Given the description of an element on the screen output the (x, y) to click on. 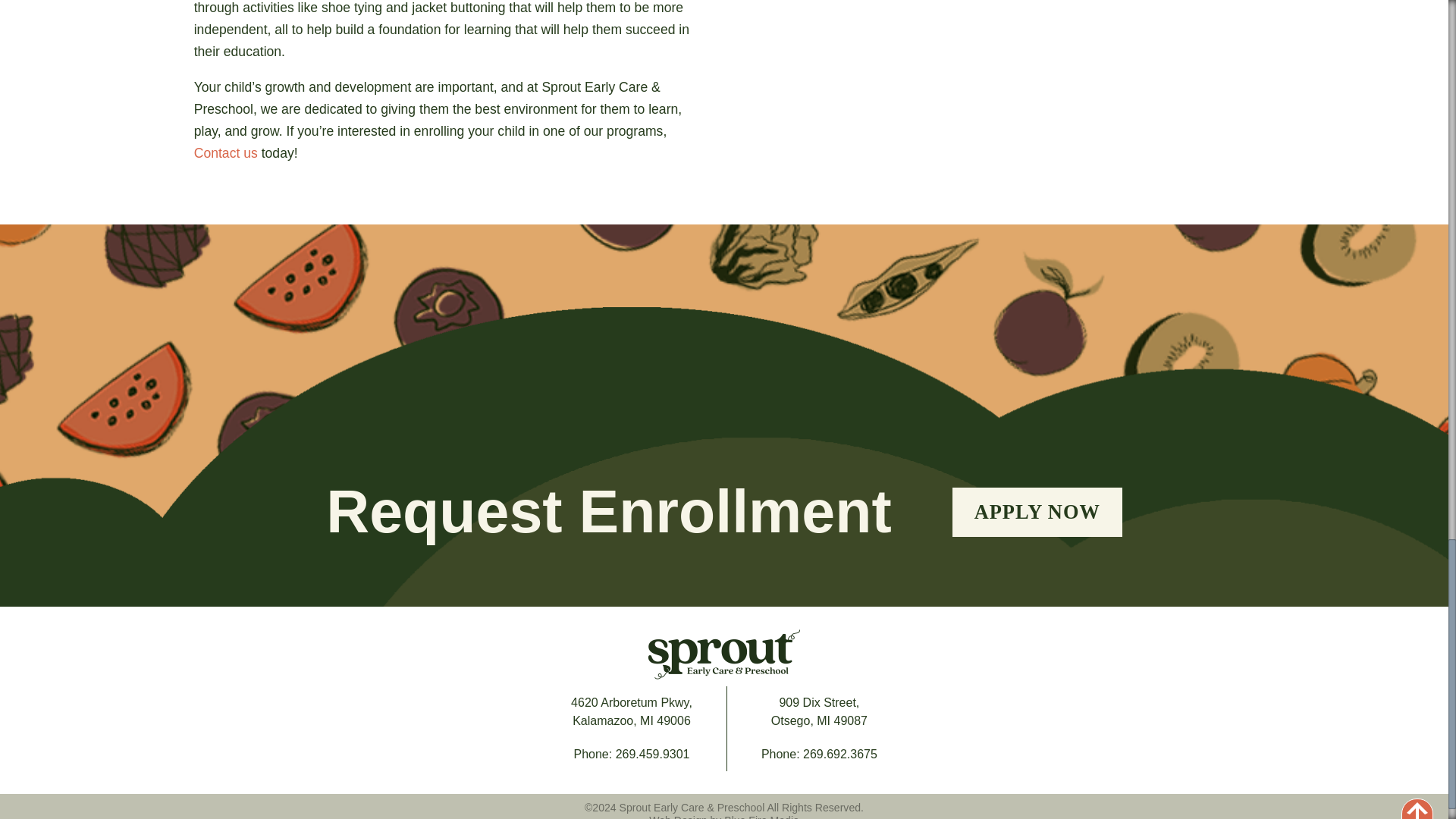
Web Design (631, 711)
APPLY NOW (677, 816)
Contact us (1037, 511)
269.459.9301 (225, 152)
269.692.3675 (819, 711)
